Given the description of an element on the screen output the (x, y) to click on. 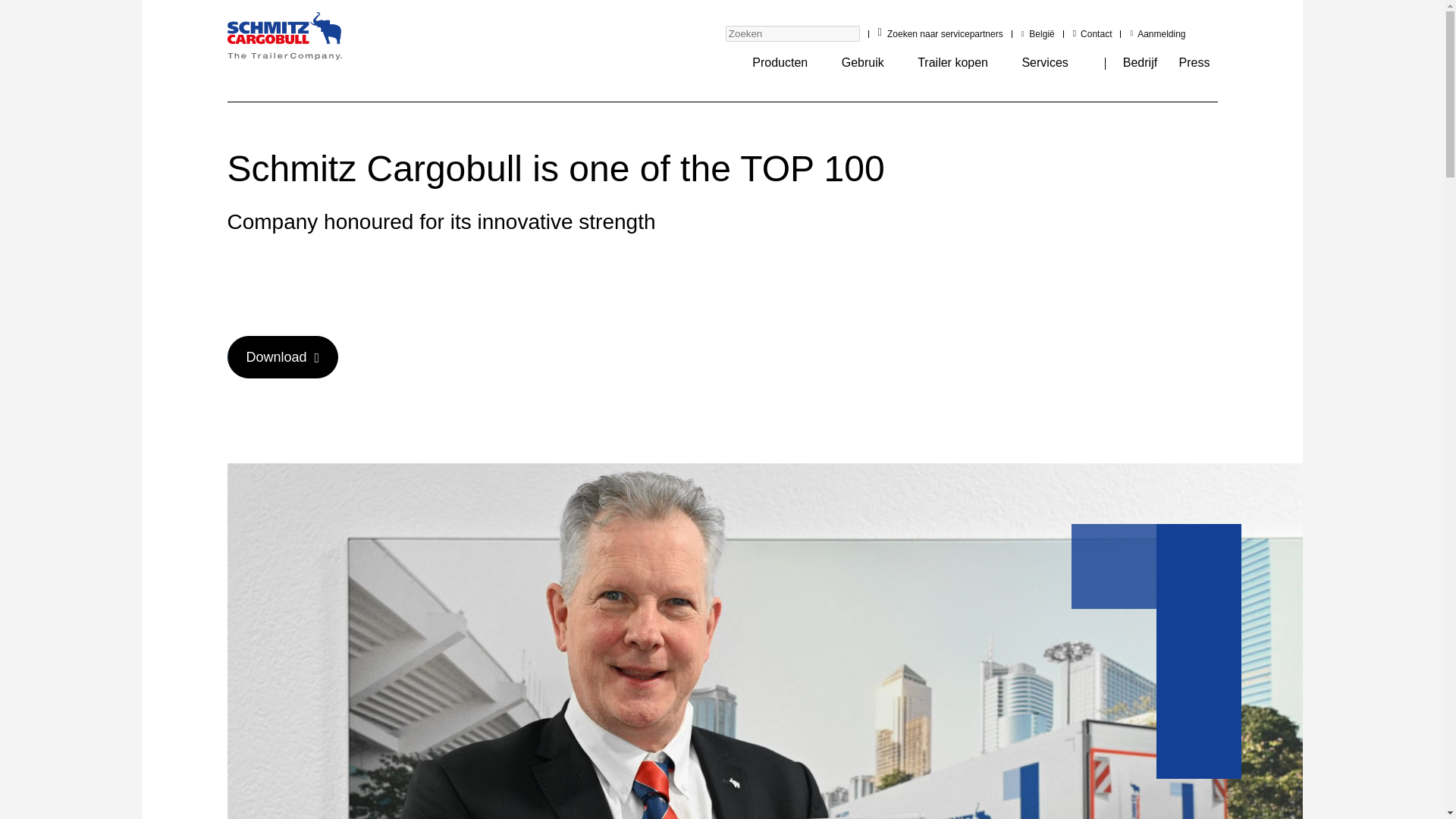
Logo header (284, 38)
Zoeken naar servicepartners (944, 33)
Producten (780, 62)
